Given the description of an element on the screen output the (x, y) to click on. 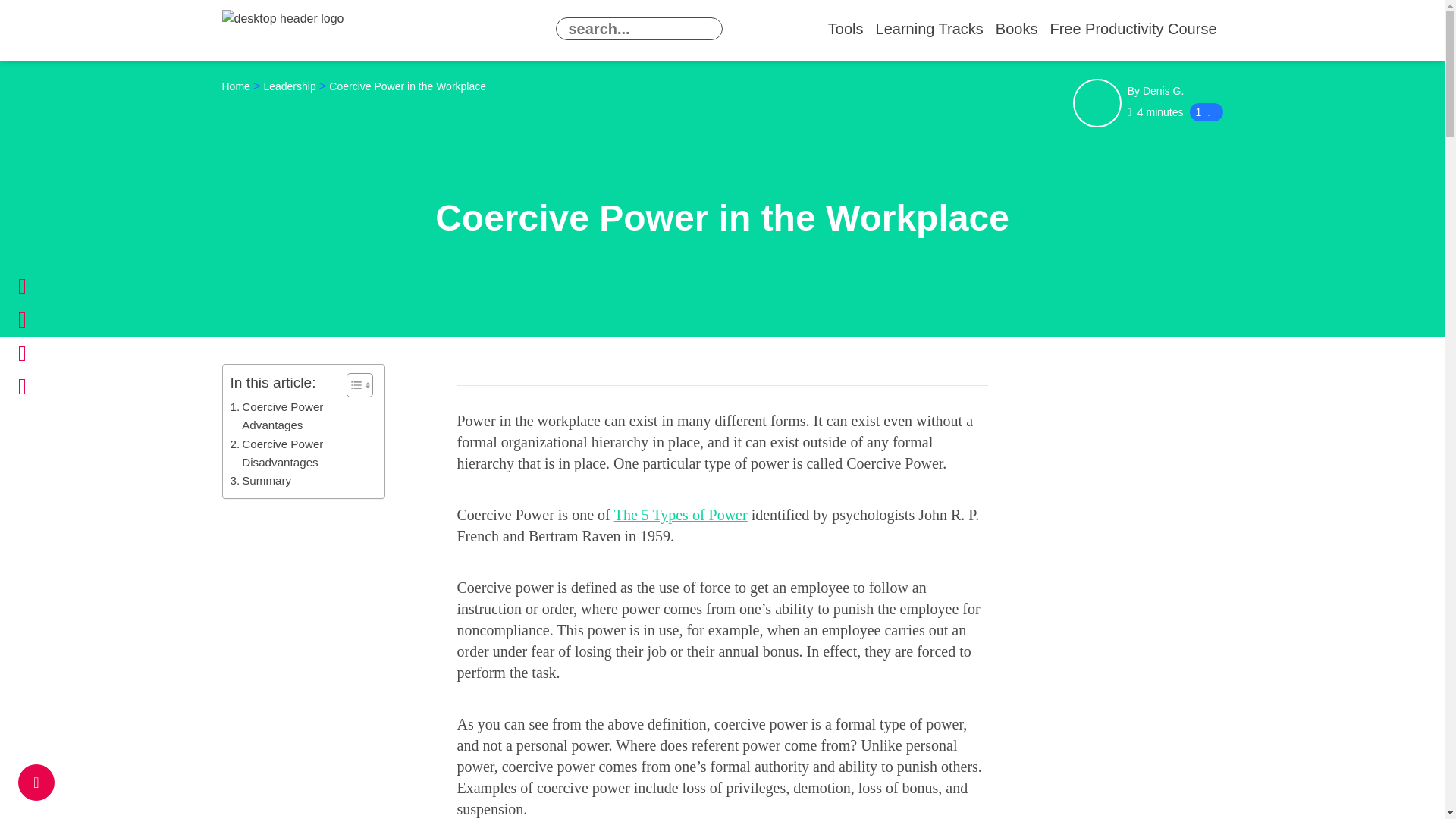
Summary (261, 480)
Coercive Power Advantages (299, 416)
Books (1016, 28)
Learning Tracks (929, 28)
Leadership (289, 86)
Coercive Power Disadvantages (299, 453)
Free Productivity Course (1133, 28)
